Given the description of an element on the screen output the (x, y) to click on. 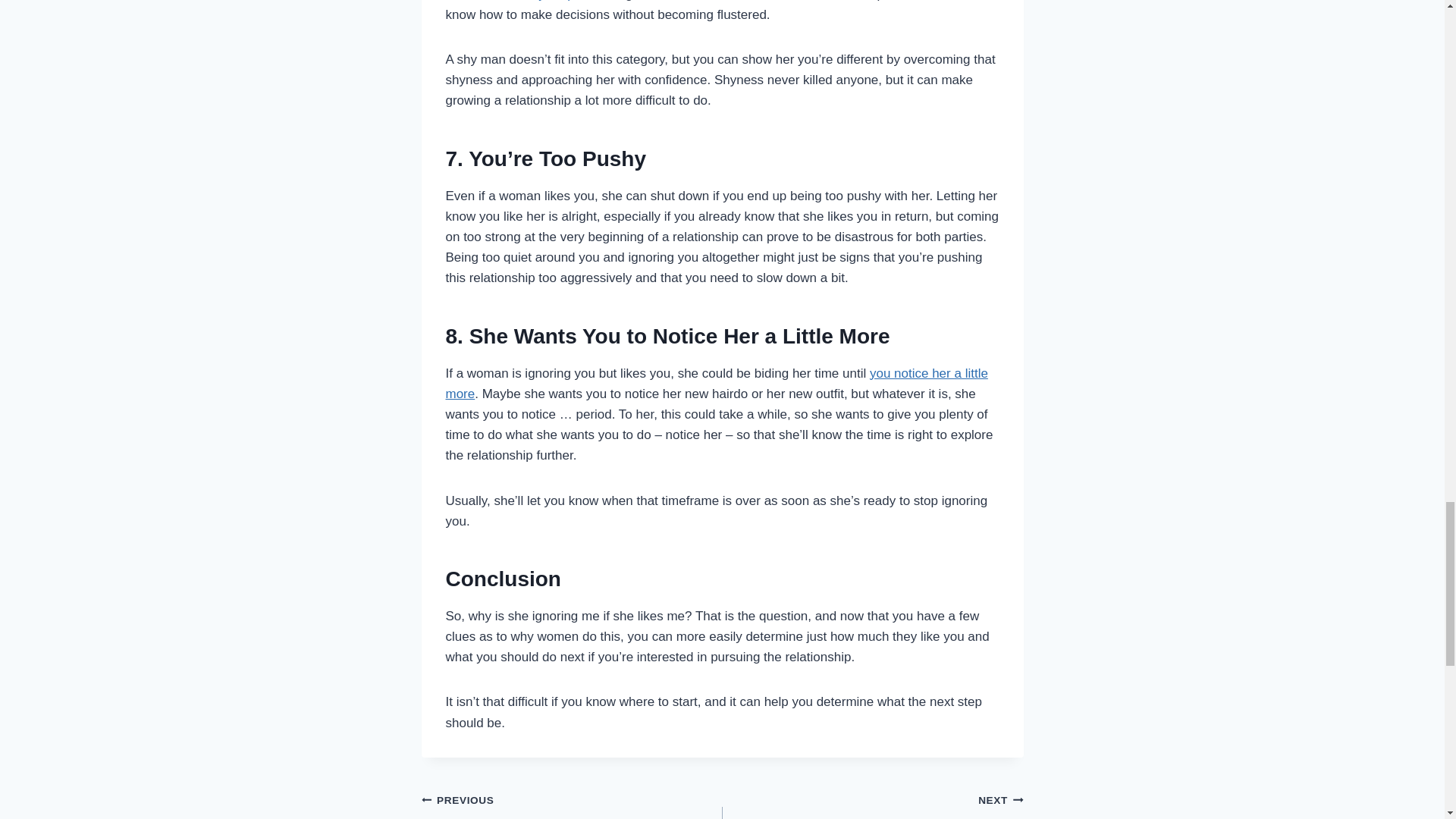
weakness on your part (872, 804)
you notice her a little more (524, 0)
weakness on your part (716, 383)
you notice her a little more (572, 804)
